Given the description of an element on the screen output the (x, y) to click on. 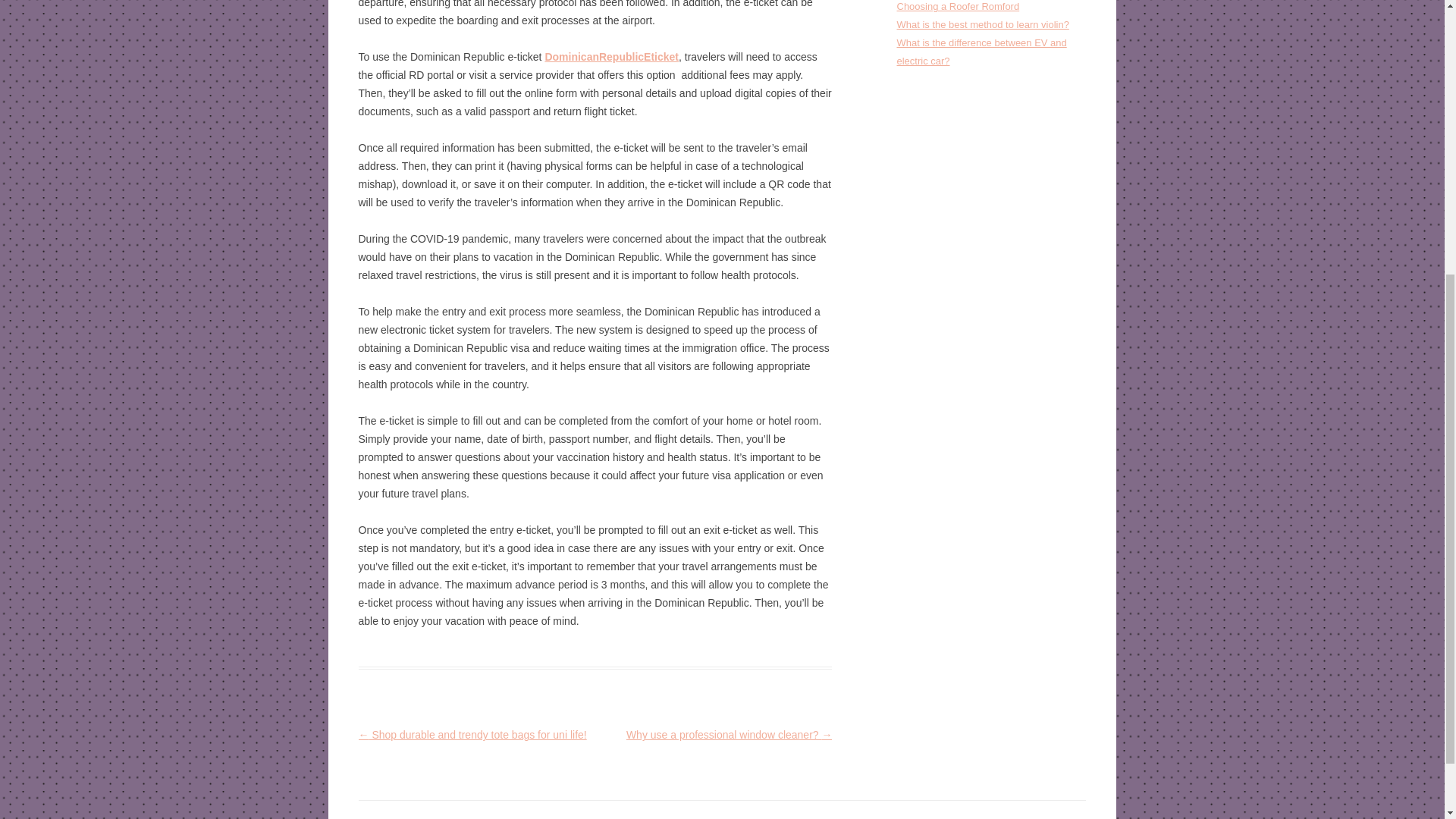
What is the difference between EV and electric car? (980, 51)
What is the best method to learn violin? (982, 24)
Choosing a Roofer Romford (957, 6)
DominicanRepublicEticket (611, 56)
